Given the description of an element on the screen output the (x, y) to click on. 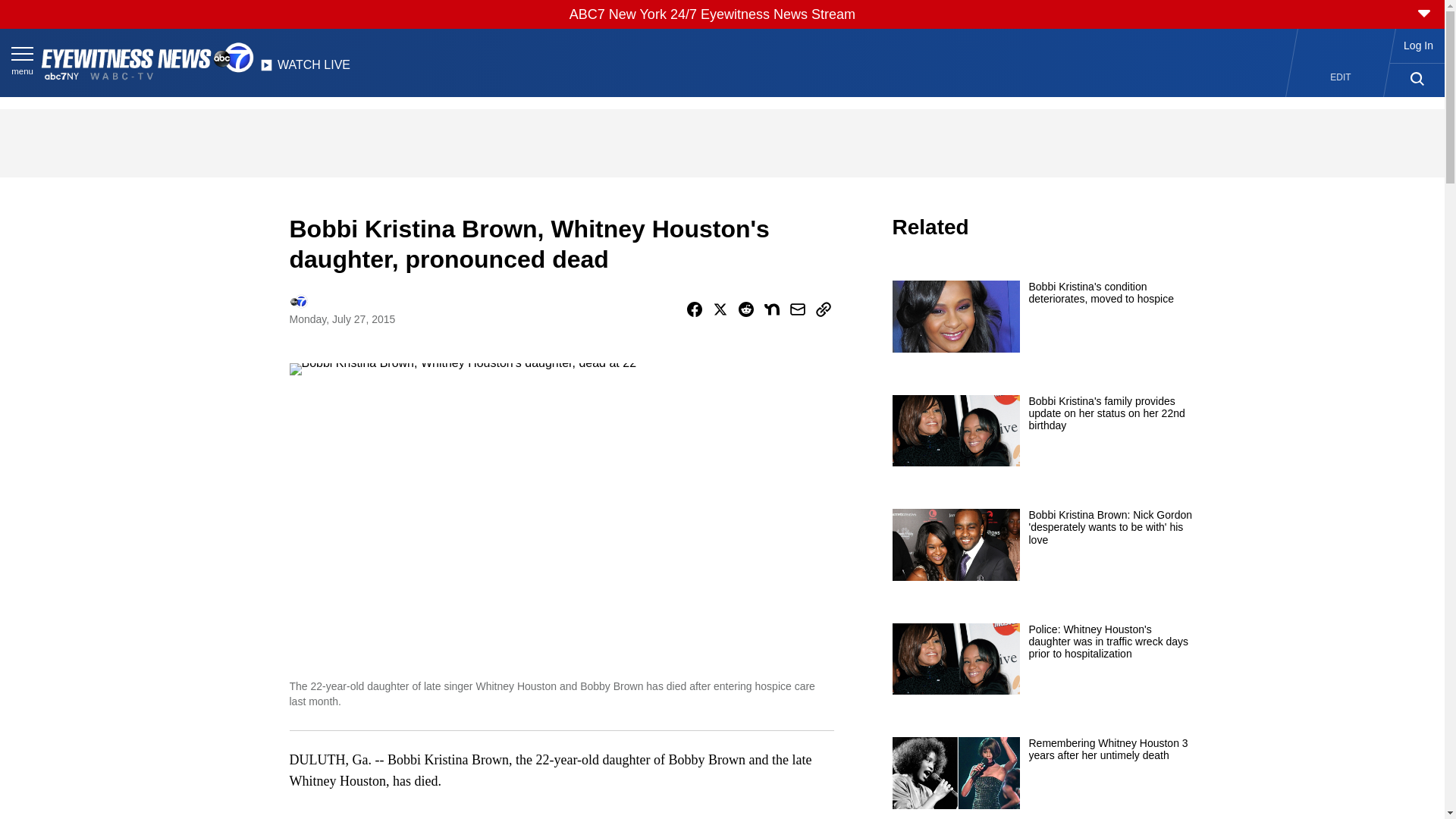
EDIT (1340, 77)
WATCH LIVE (305, 69)
